Given the description of an element on the screen output the (x, y) to click on. 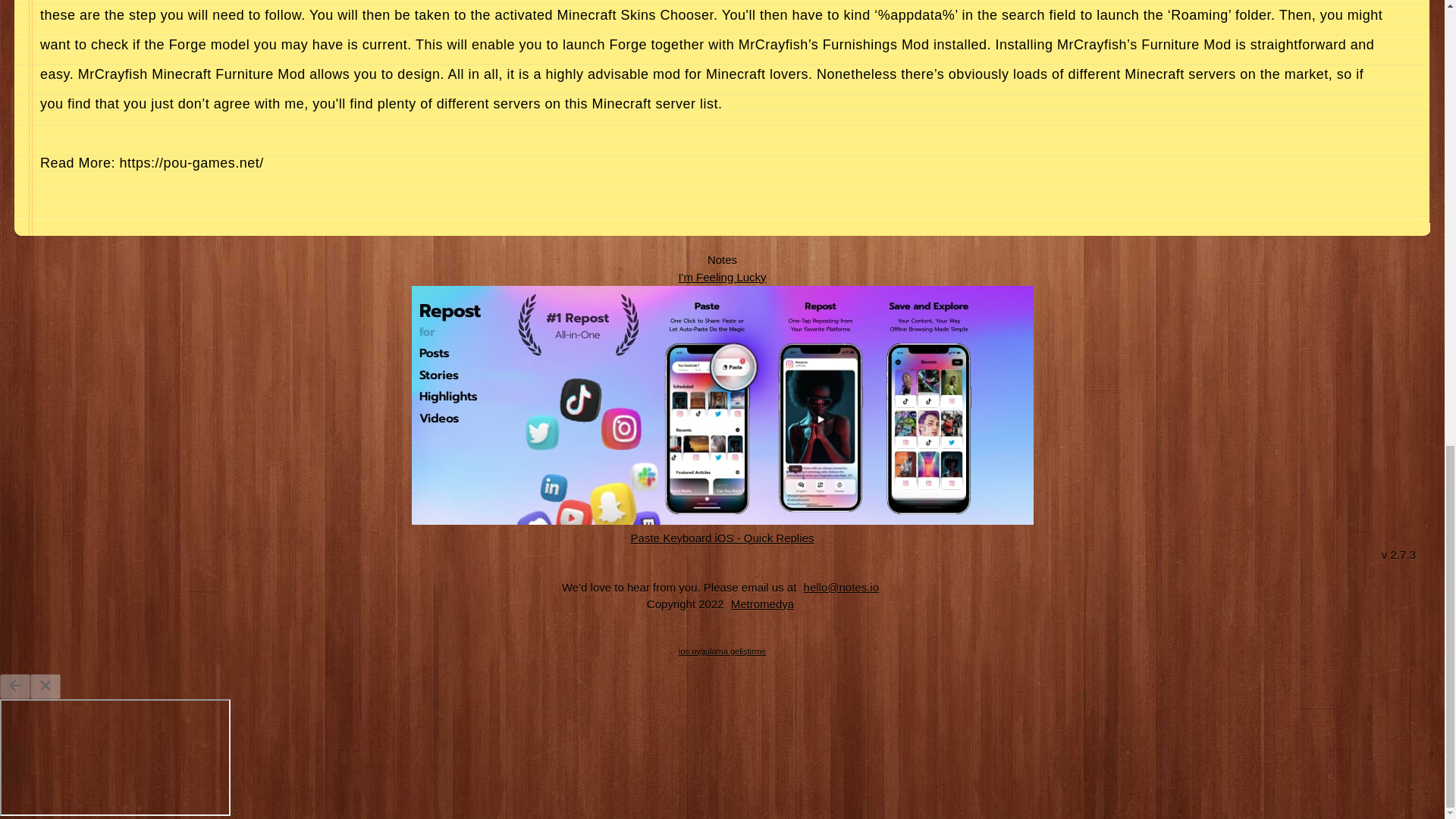
Paste Keyboard iOS - Quick Replies (722, 536)
Feeling Luck (722, 276)
Metromedya (761, 603)
Quick Replies iOS App Web Site (722, 536)
I'm Feeling Lucky (722, 276)
